Given the description of an element on the screen output the (x, y) to click on. 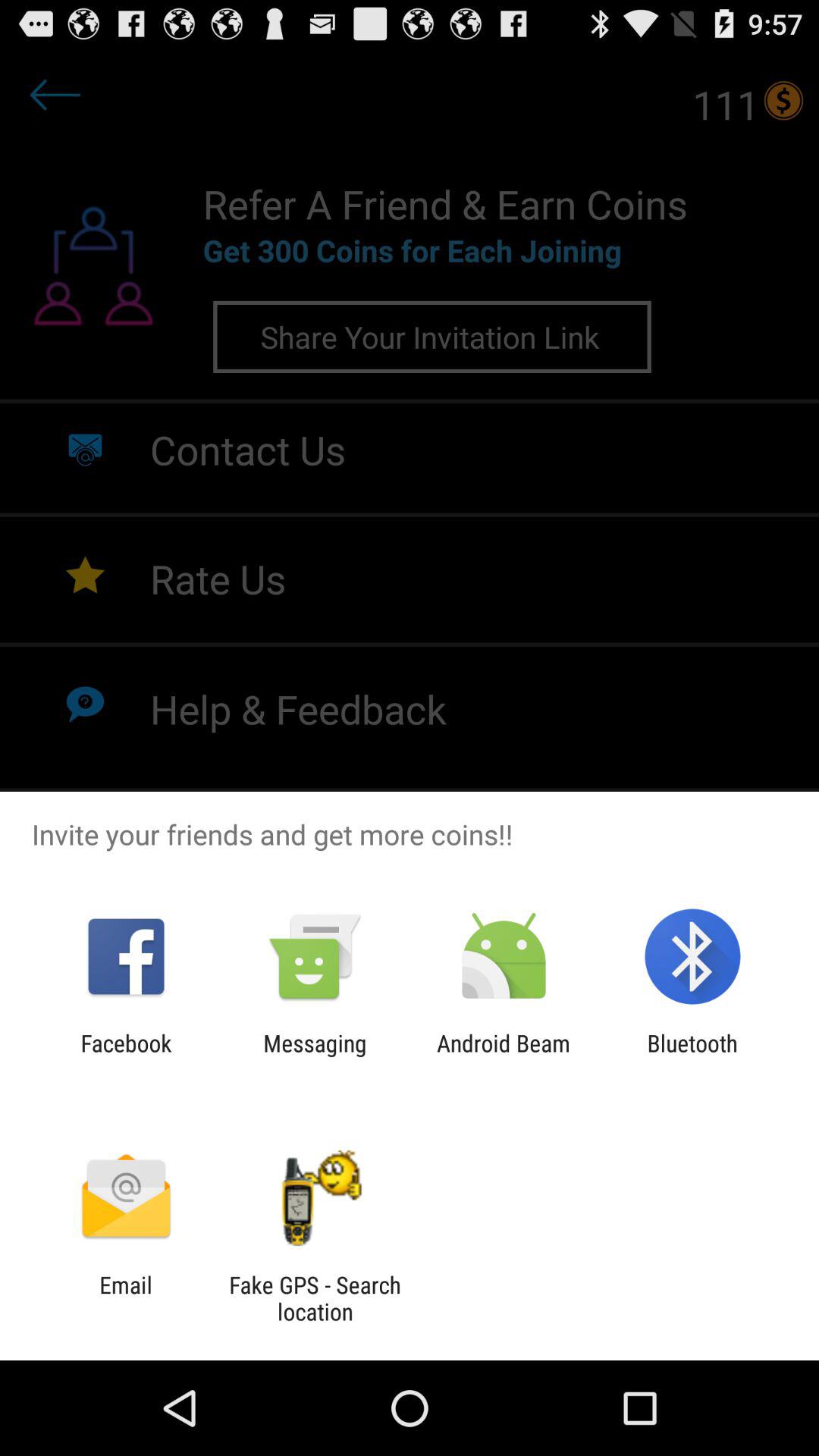
turn off the icon to the left of the bluetooth icon (503, 1056)
